Given the description of an element on the screen output the (x, y) to click on. 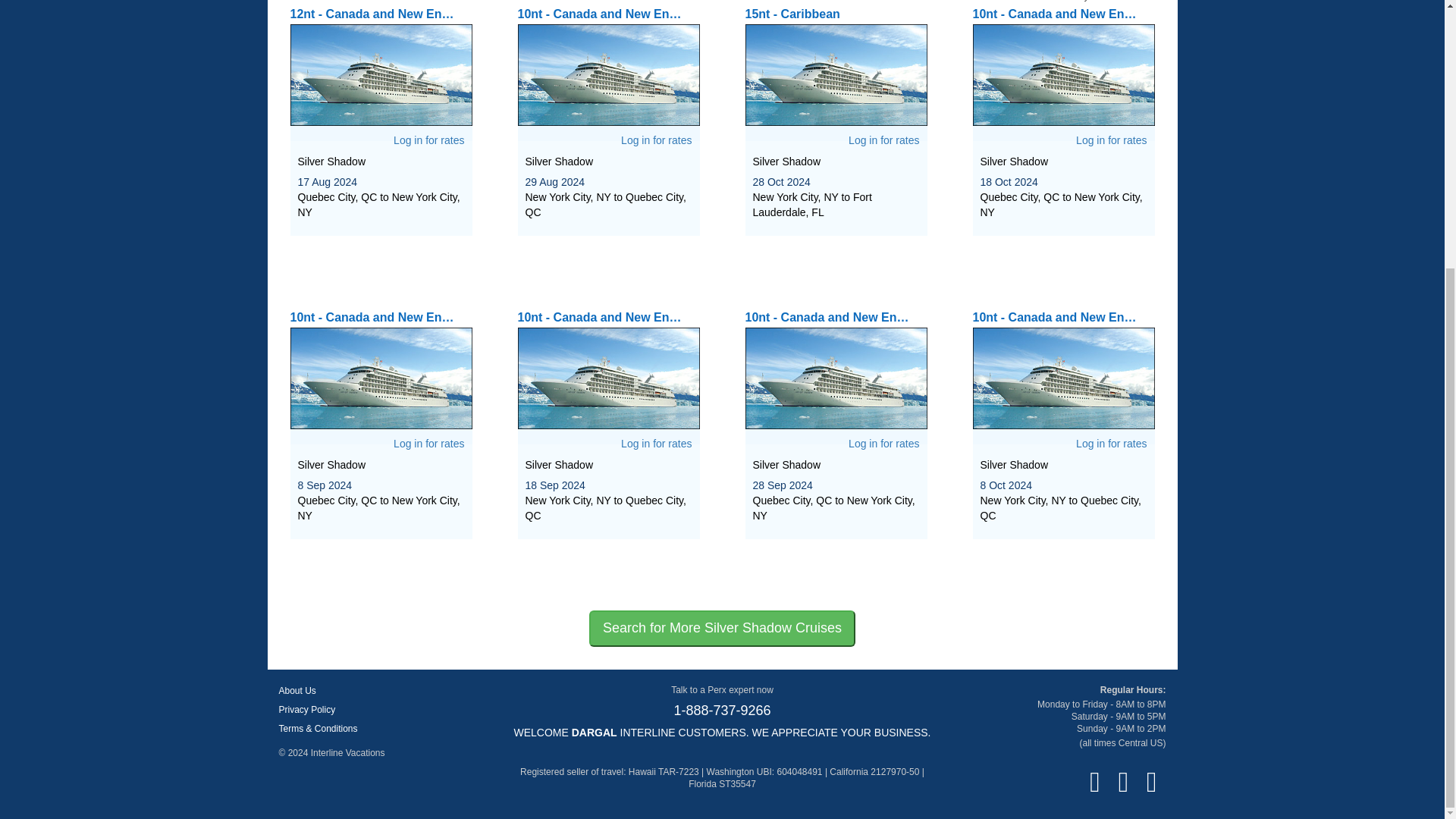
Search for More Silver Shadow Cruises (722, 628)
Price (1110, 0)
Duration (1149, 0)
15nt - Caribbean (835, 66)
